Given the description of an element on the screen output the (x, y) to click on. 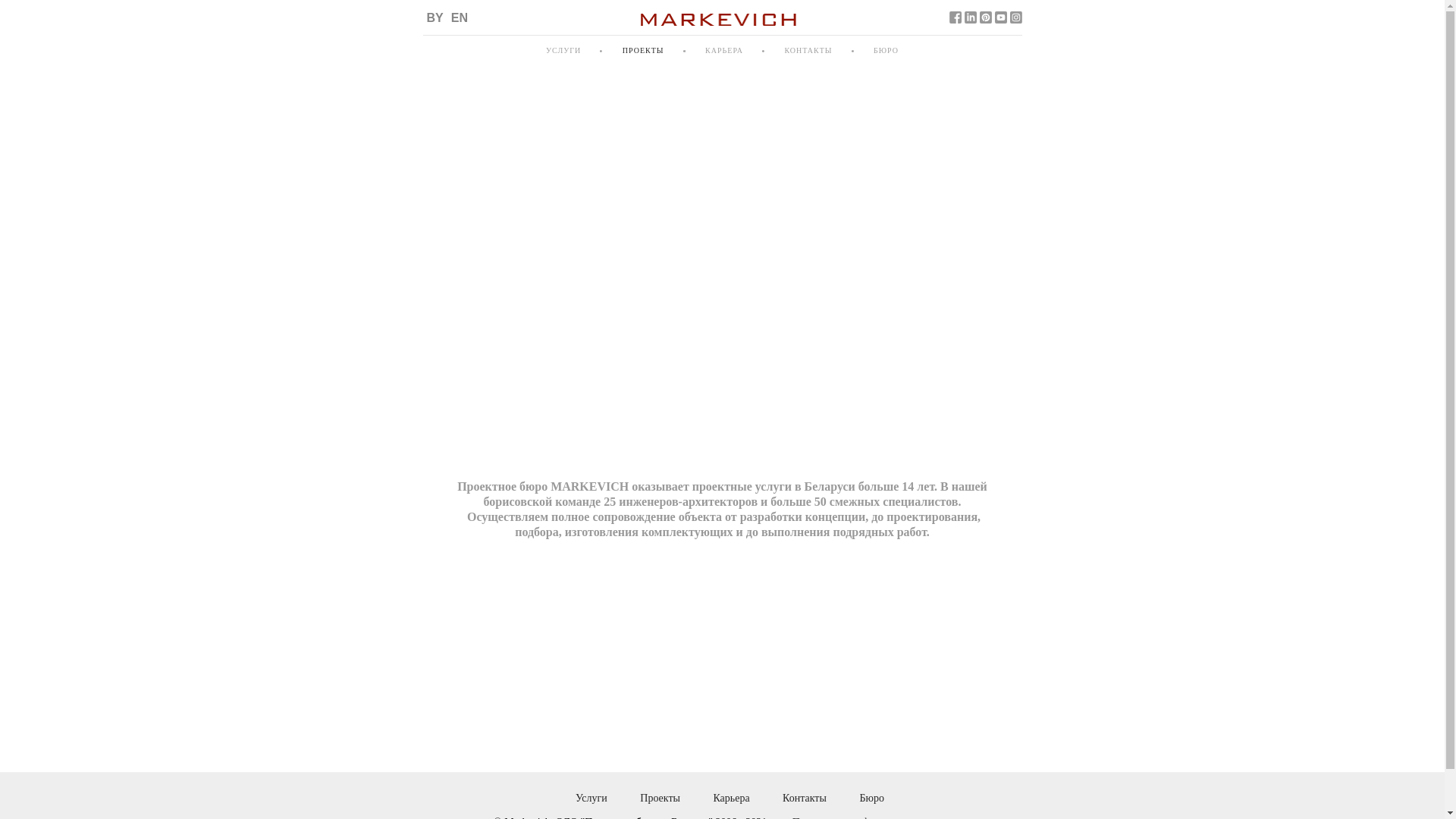
EN Element type: text (459, 17)
BY Element type: text (435, 17)
